Given the description of an element on the screen output the (x, y) to click on. 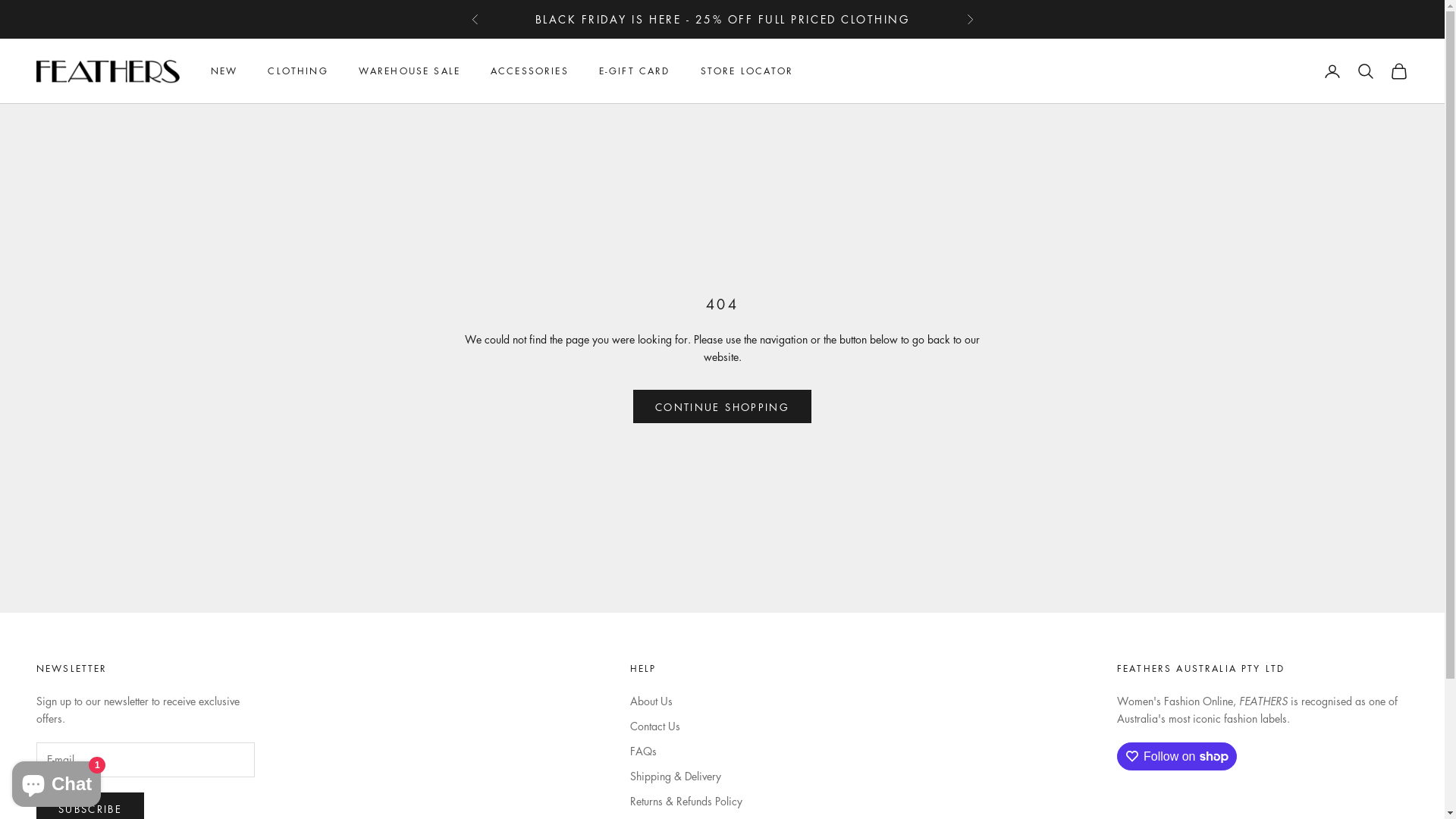
NEW Element type: text (223, 70)
CONTINUE SHOPPING Element type: text (722, 406)
E-GIFT CARD Element type: text (634, 70)
Open cart Element type: text (1399, 71)
FAQs Element type: text (642, 750)
Previous Element type: text (474, 19)
Next Element type: text (968, 19)
About Us Element type: text (650, 700)
Open account page Element type: text (1332, 71)
Open search Element type: text (1365, 71)
Returns & Refunds Policy Element type: text (685, 800)
Shipping & Delivery Element type: text (674, 775)
STORE LOCATOR Element type: text (746, 70)
CHRISTMAS DELIVERY DEADLINES Element type: text (722, 18)
Feathers Boutique Online Store Element type: text (108, 71)
Shopify online store chat Element type: hover (56, 780)
Contact Us Element type: text (654, 725)
WAREHOUSE SALE Element type: text (409, 70)
